Given the description of an element on the screen output the (x, y) to click on. 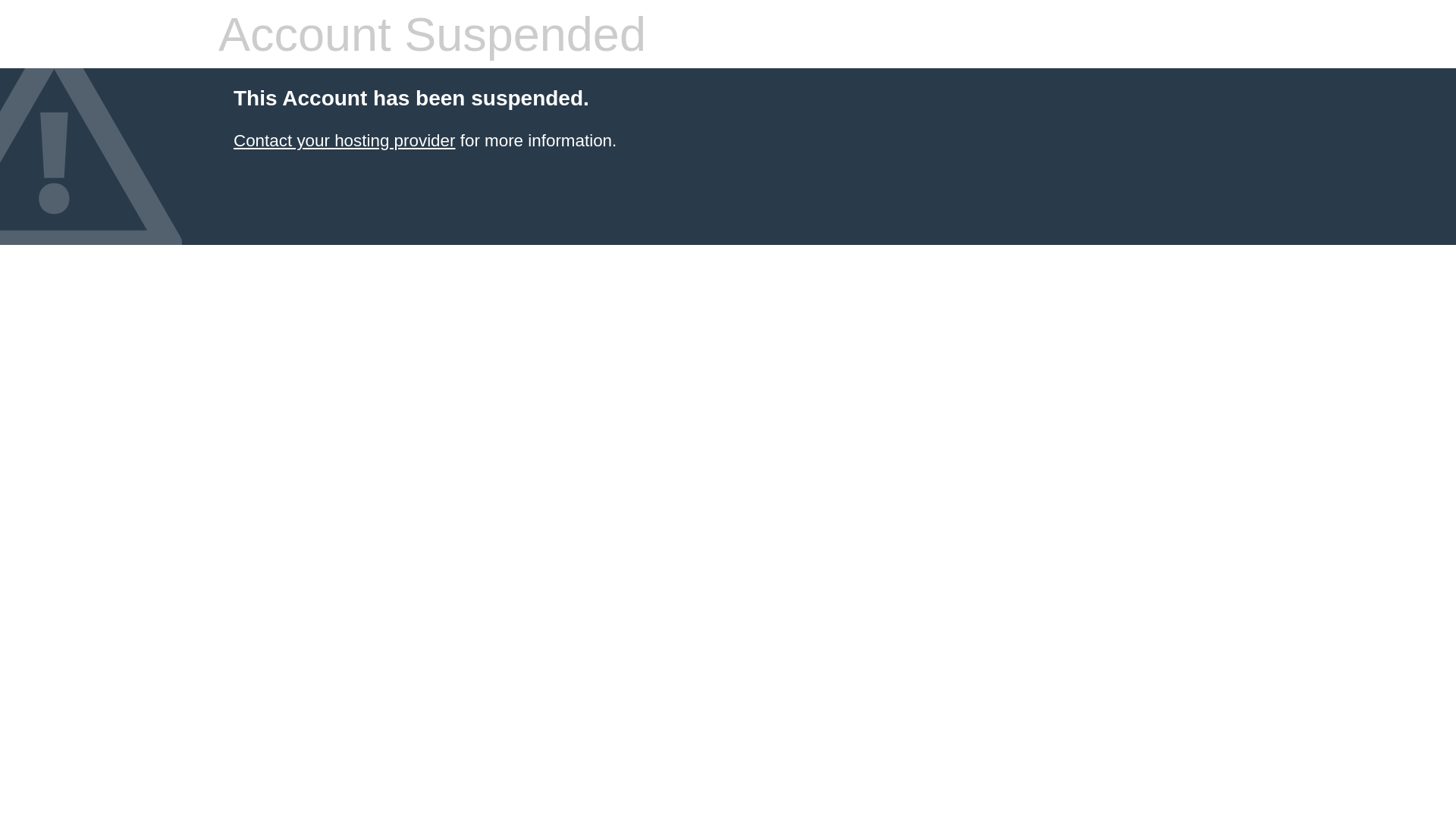
Contact your hosting provider Element type: text (344, 140)
